Given the description of an element on the screen output the (x, y) to click on. 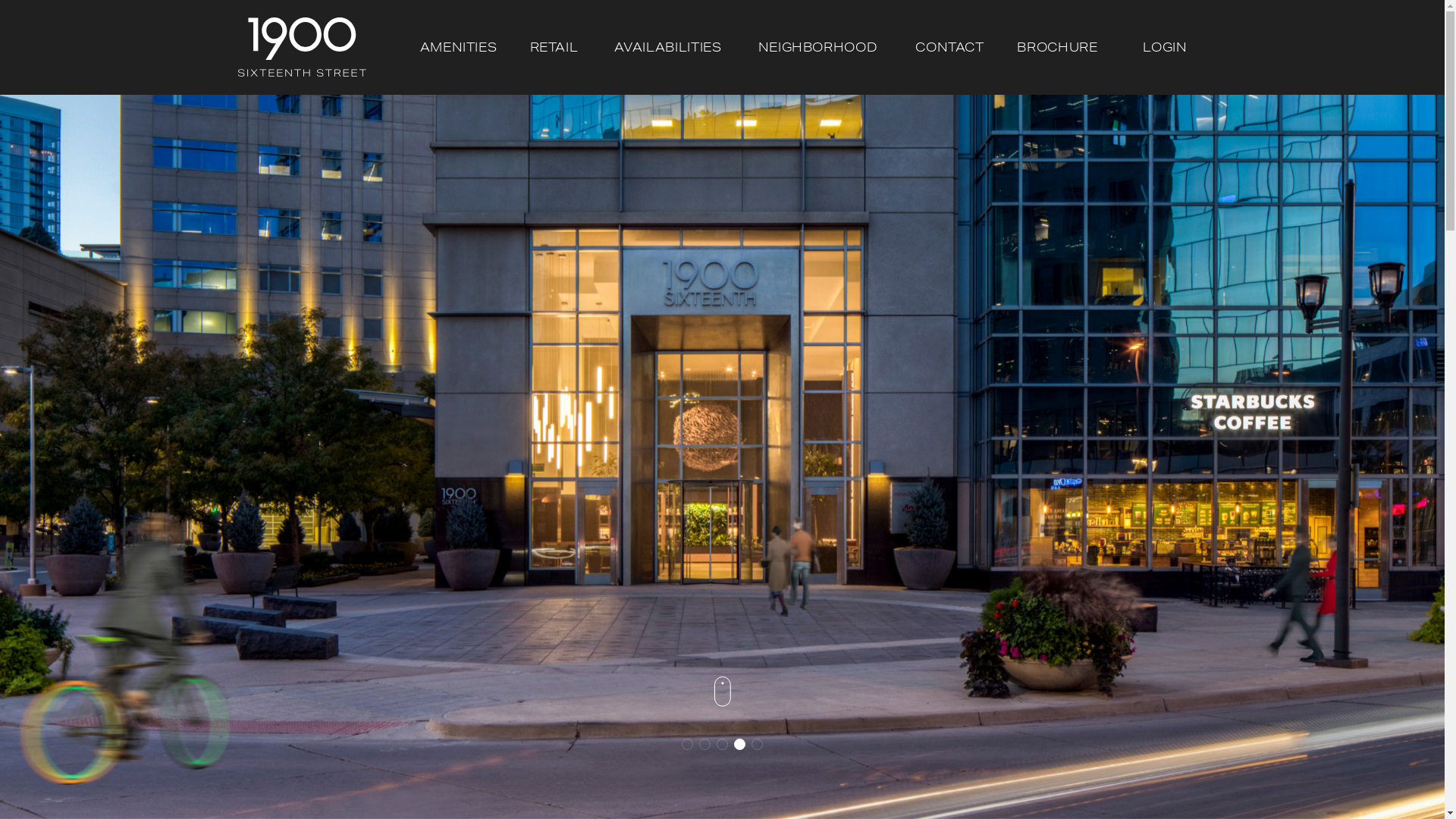
BROCHURE Element type: text (1056, 46)
AVAILABILITIES Element type: text (667, 46)
AMENITIES Element type: text (458, 46)
CONTACT Element type: text (949, 46)
LOGIN Element type: text (1164, 46)
NEIGHBORHOOD Element type: text (818, 46)
RETAIL Element type: text (554, 46)
